Given the description of an element on the screen output the (x, y) to click on. 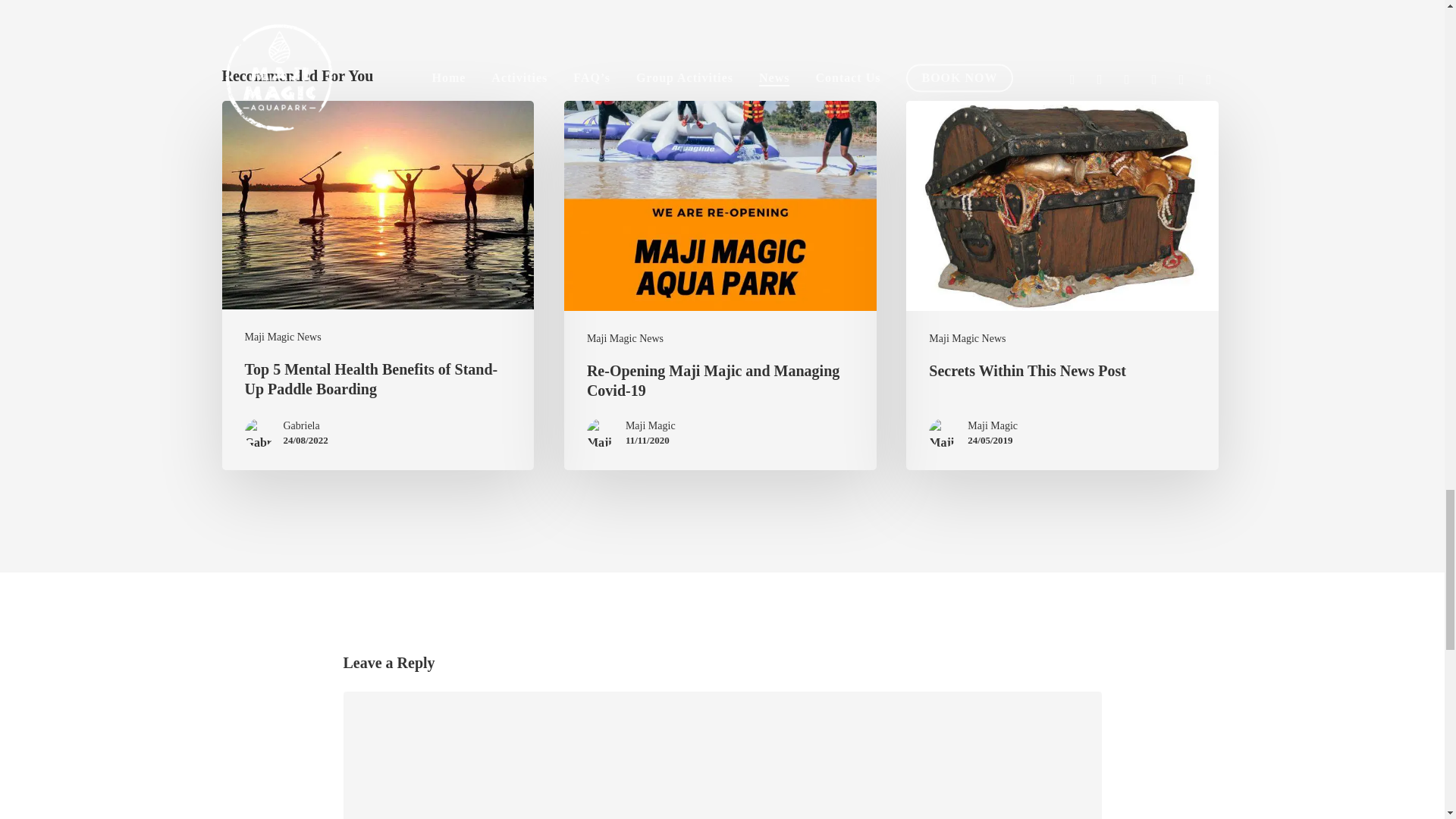
Maji Magic News (282, 336)
